Given the description of an element on the screen output the (x, y) to click on. 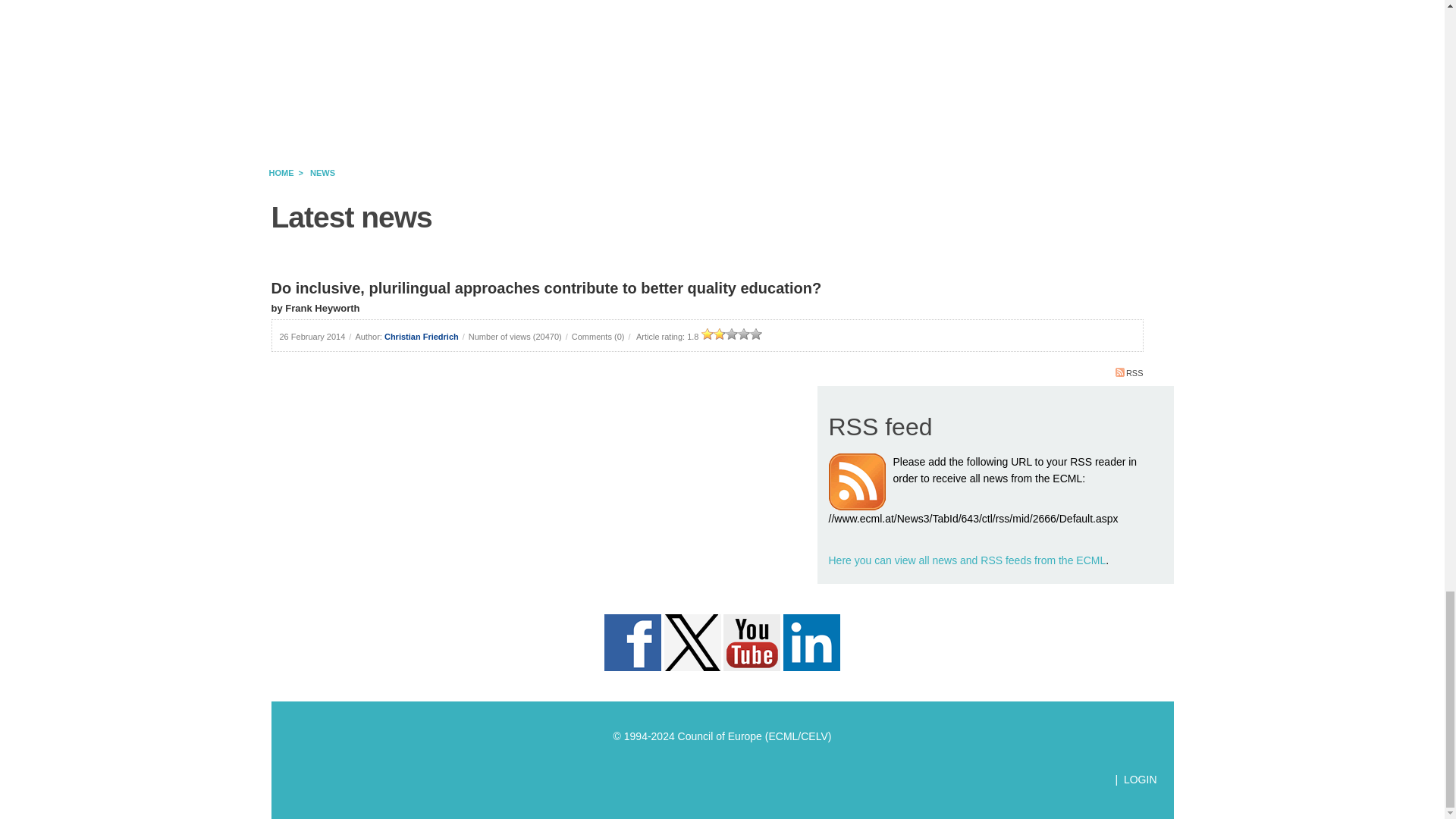
LOGIN (1140, 779)
